Given the description of an element on the screen output the (x, y) to click on. 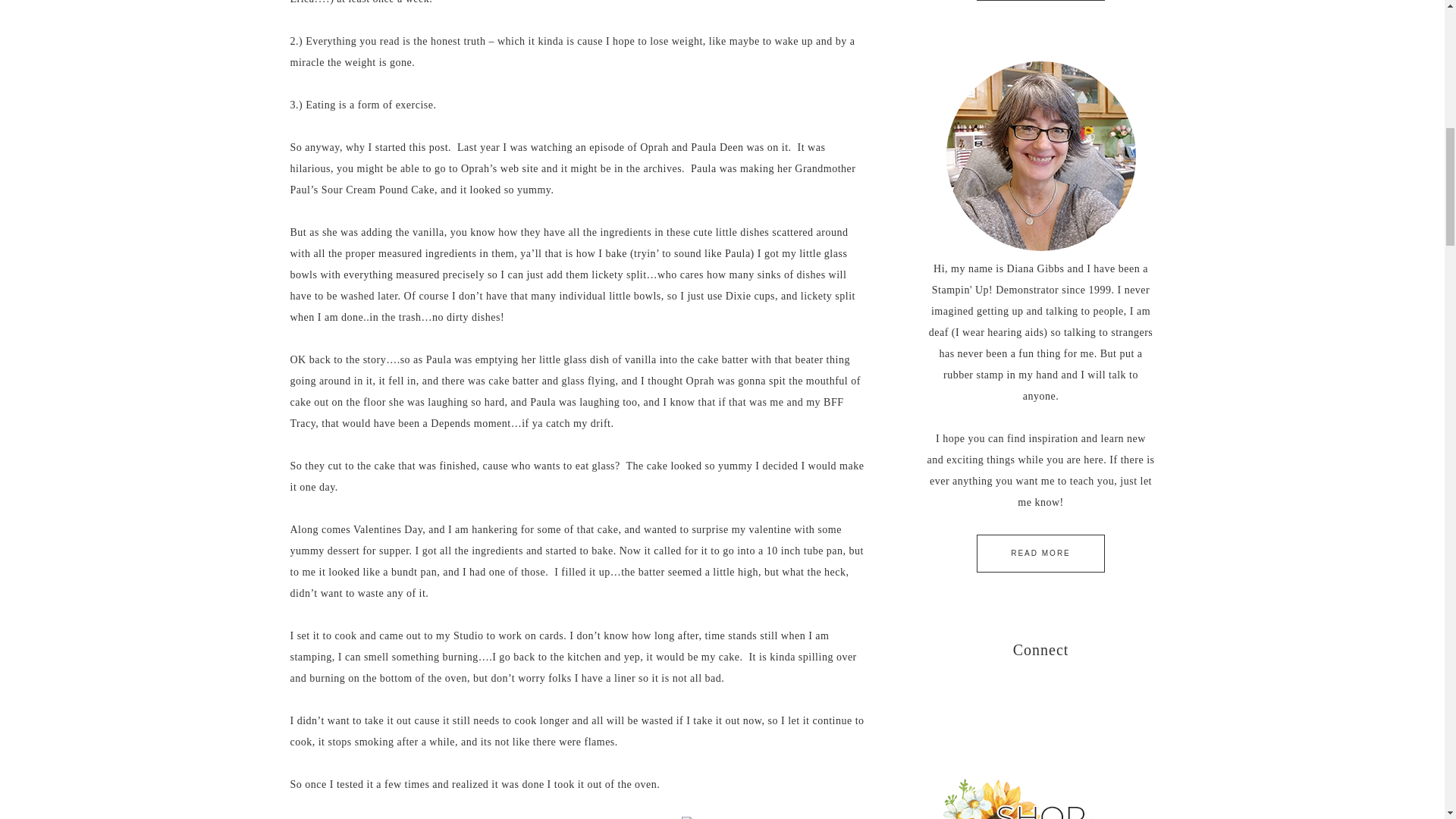
READ MORE (1040, 553)
